Given the description of an element on the screen output the (x, y) to click on. 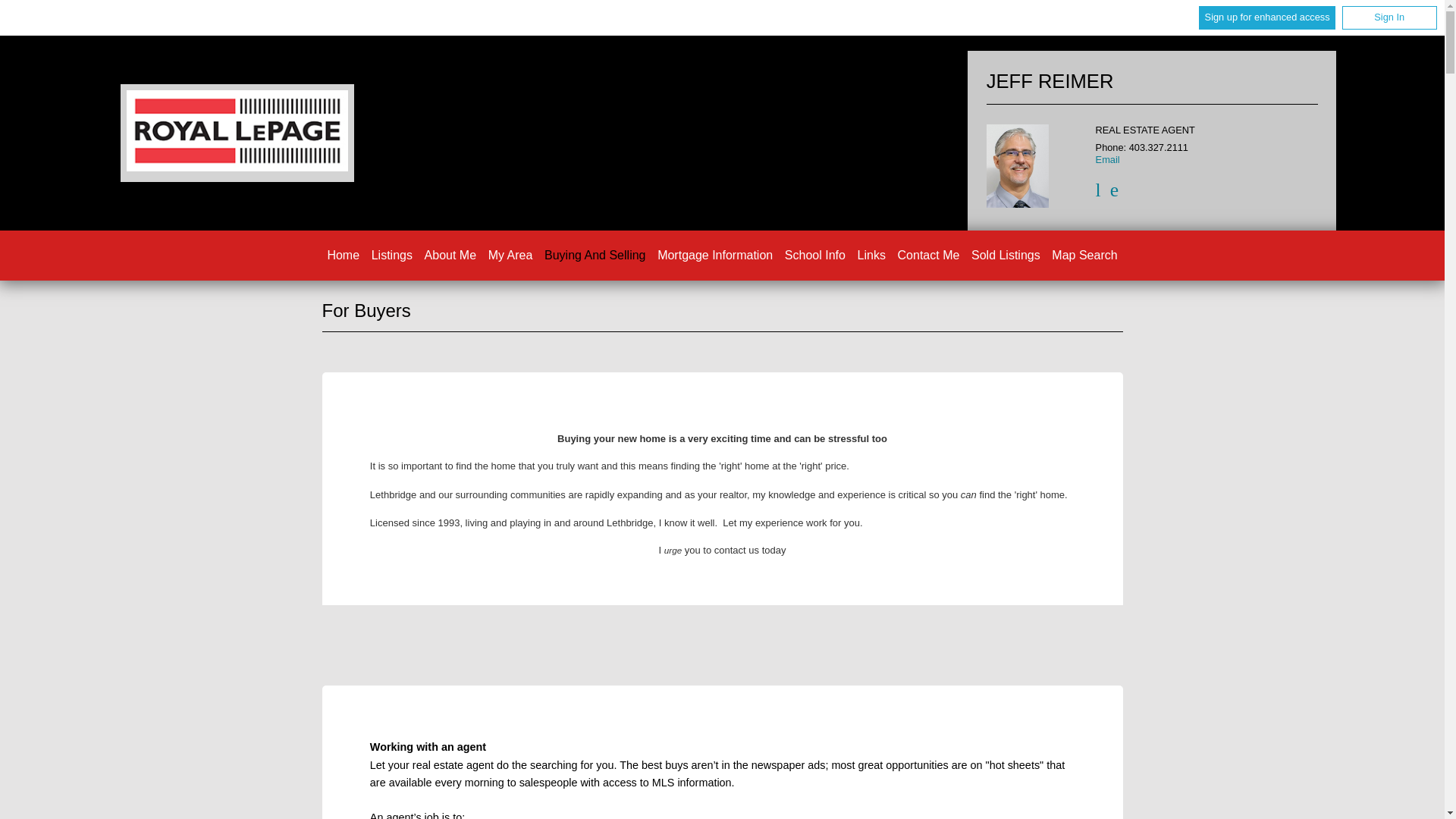
Contact Me (928, 254)
About Me (450, 254)
School Info (814, 254)
Sold Listings (1006, 254)
Email (1107, 159)
Mortgage Information (715, 254)
Home (342, 254)
Home (236, 132)
About Me (450, 254)
Sold Listings (1006, 254)
Links (871, 254)
Listings (391, 254)
My Area (509, 254)
Map Search (1083, 254)
School Info (814, 254)
